Given the description of an element on the screen output the (x, y) to click on. 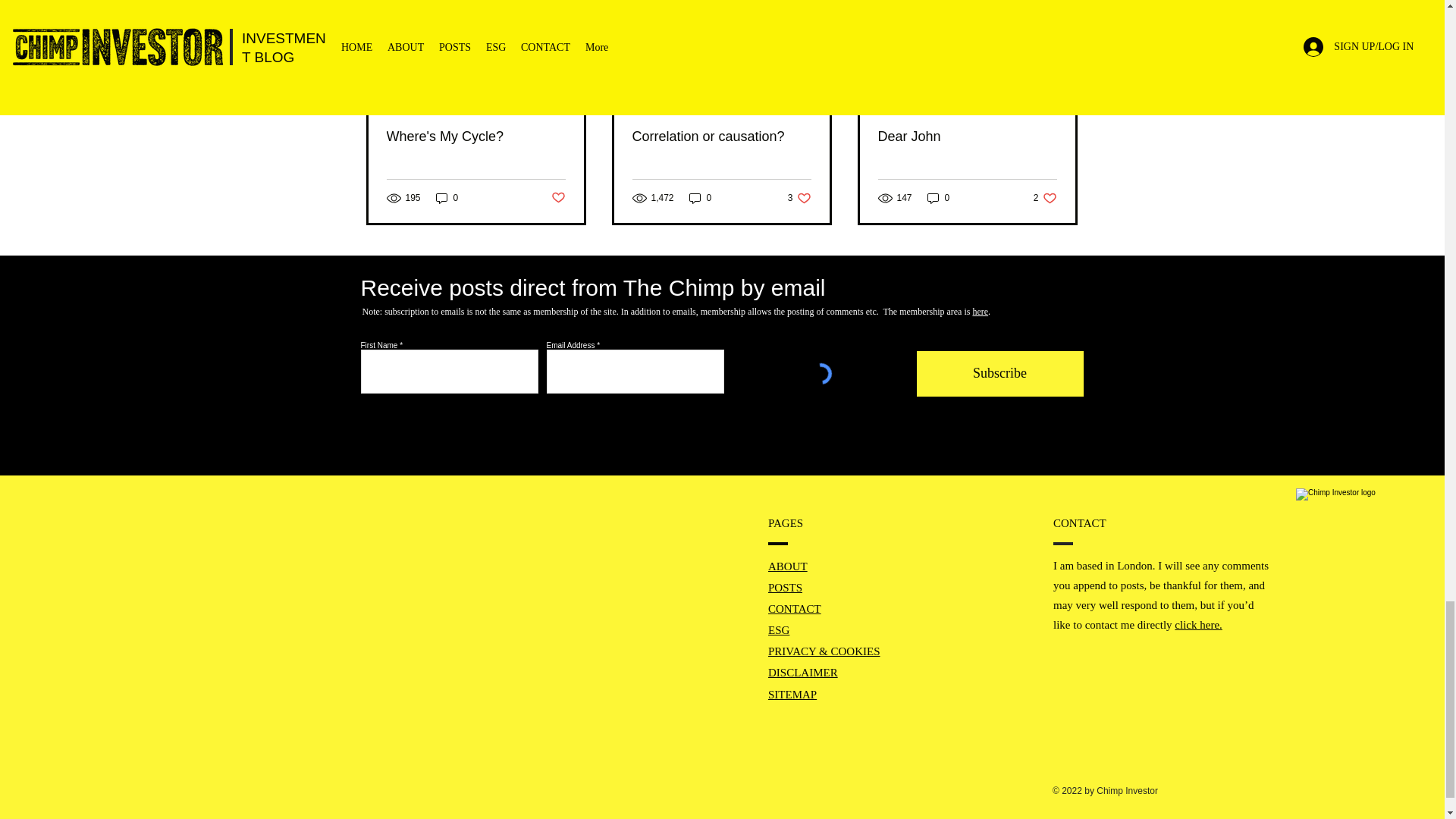
Where's My Cycle? (476, 136)
0 (700, 197)
Correlation or causation? (720, 136)
0 (446, 197)
Post not marked as liked (557, 198)
Dear John (967, 136)
